Given the description of an element on the screen output the (x, y) to click on. 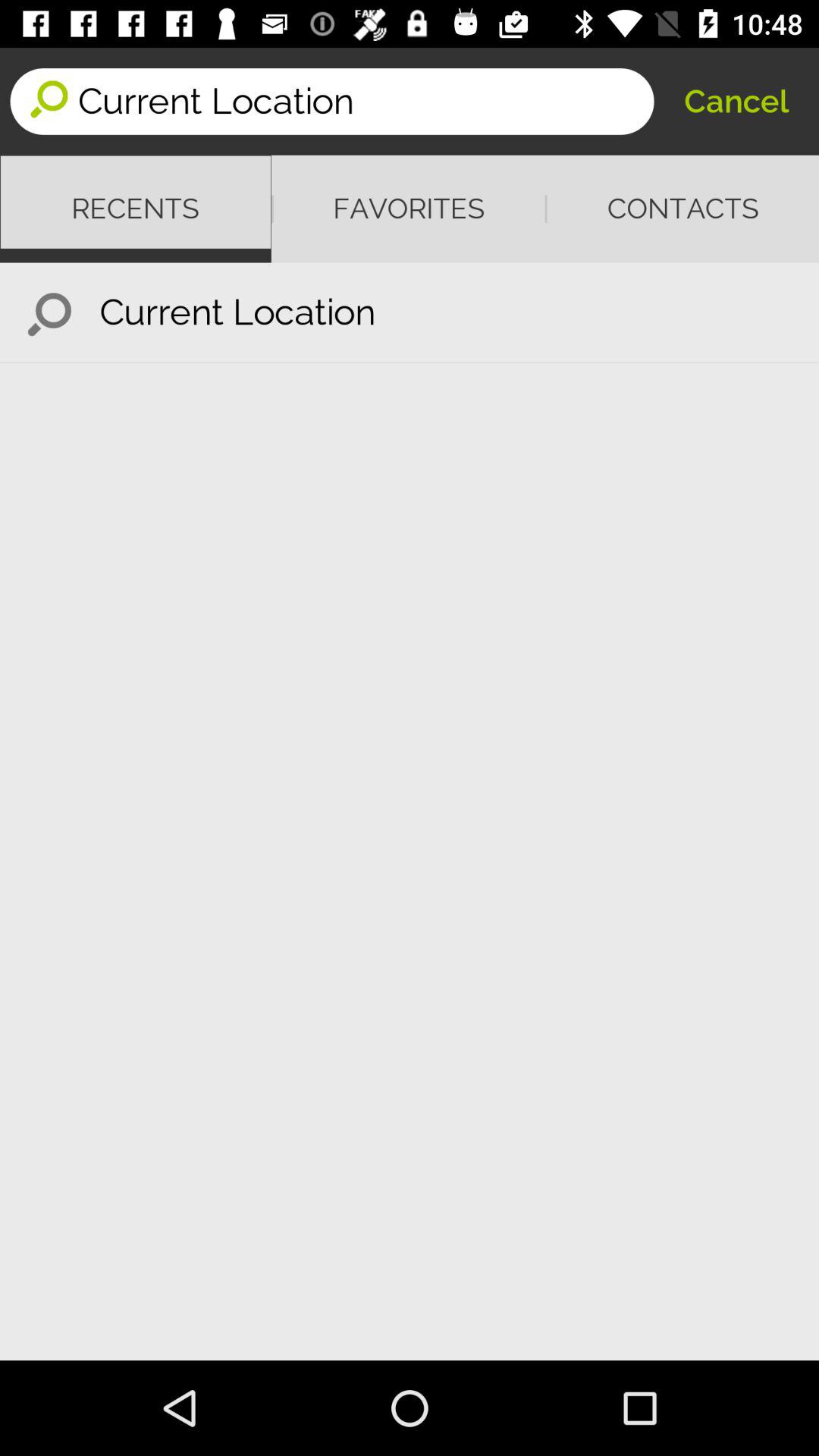
click the item to the left of the current location (49, 312)
